Given the description of an element on the screen output the (x, y) to click on. 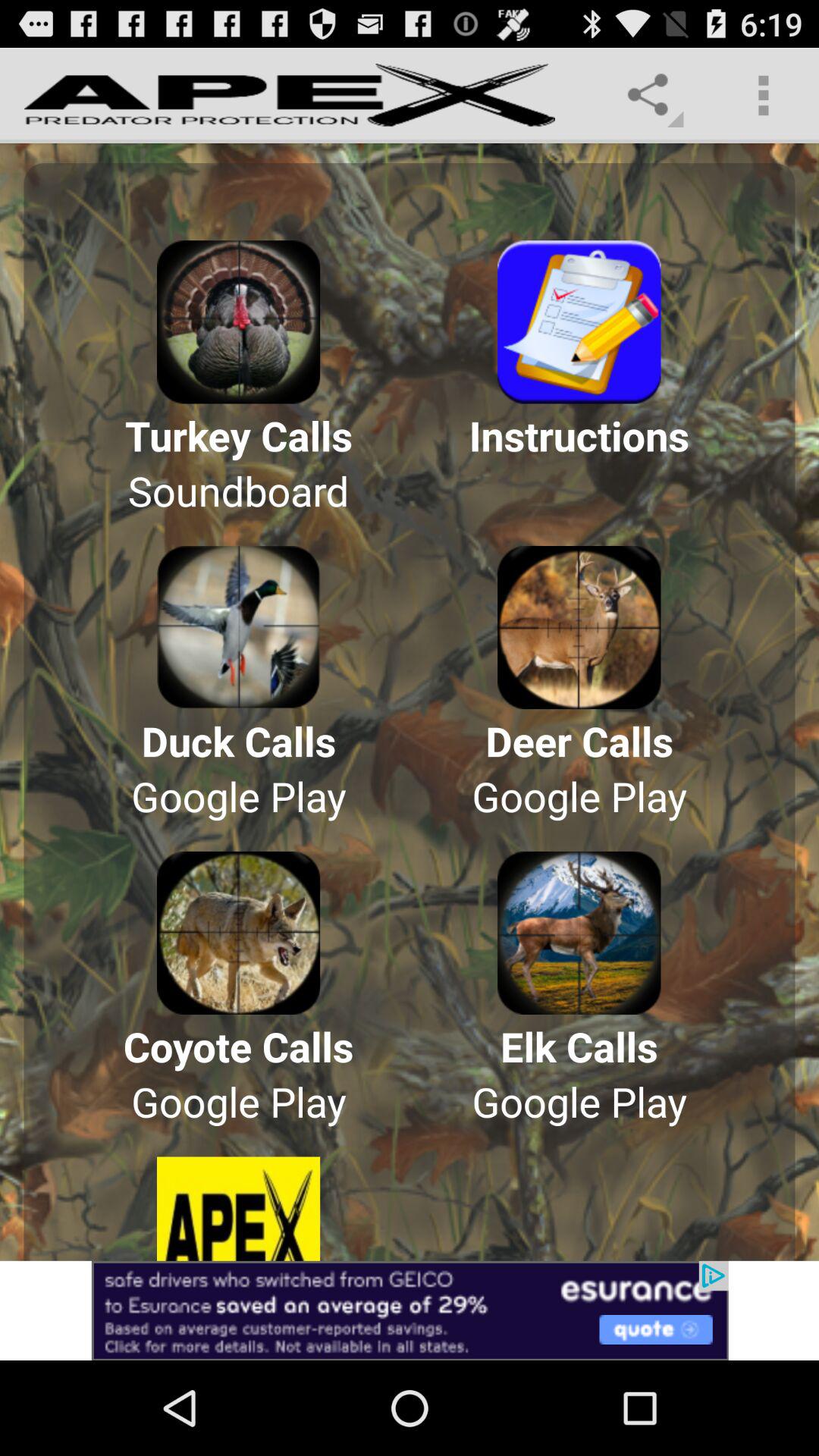
go to esurance advertisement (409, 1310)
